Given the description of an element on the screen output the (x, y) to click on. 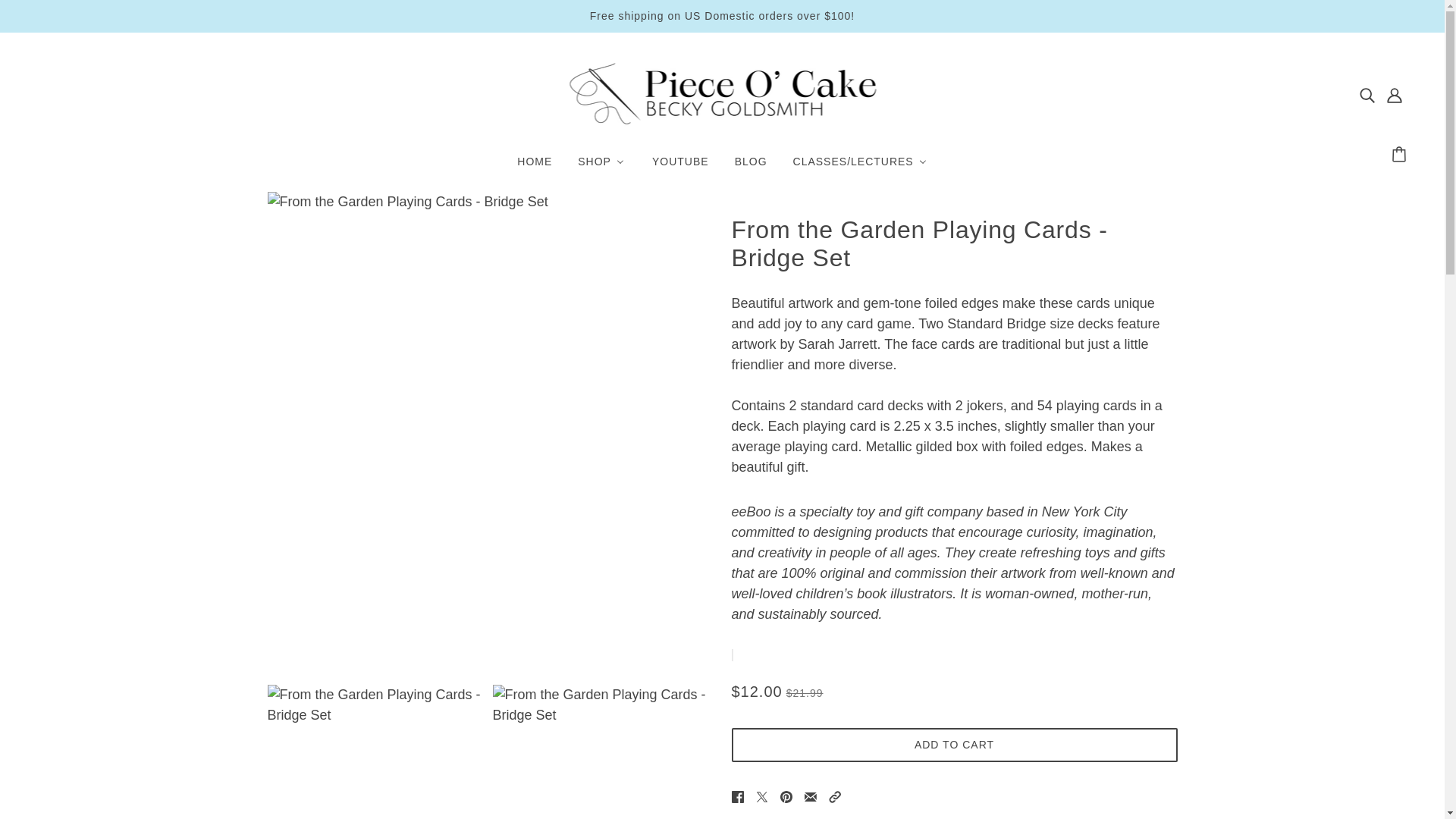
Piece O' Cake Designs (721, 127)
HOME (533, 160)
SHOP (601, 160)
